Given the description of an element on the screen output the (x, y) to click on. 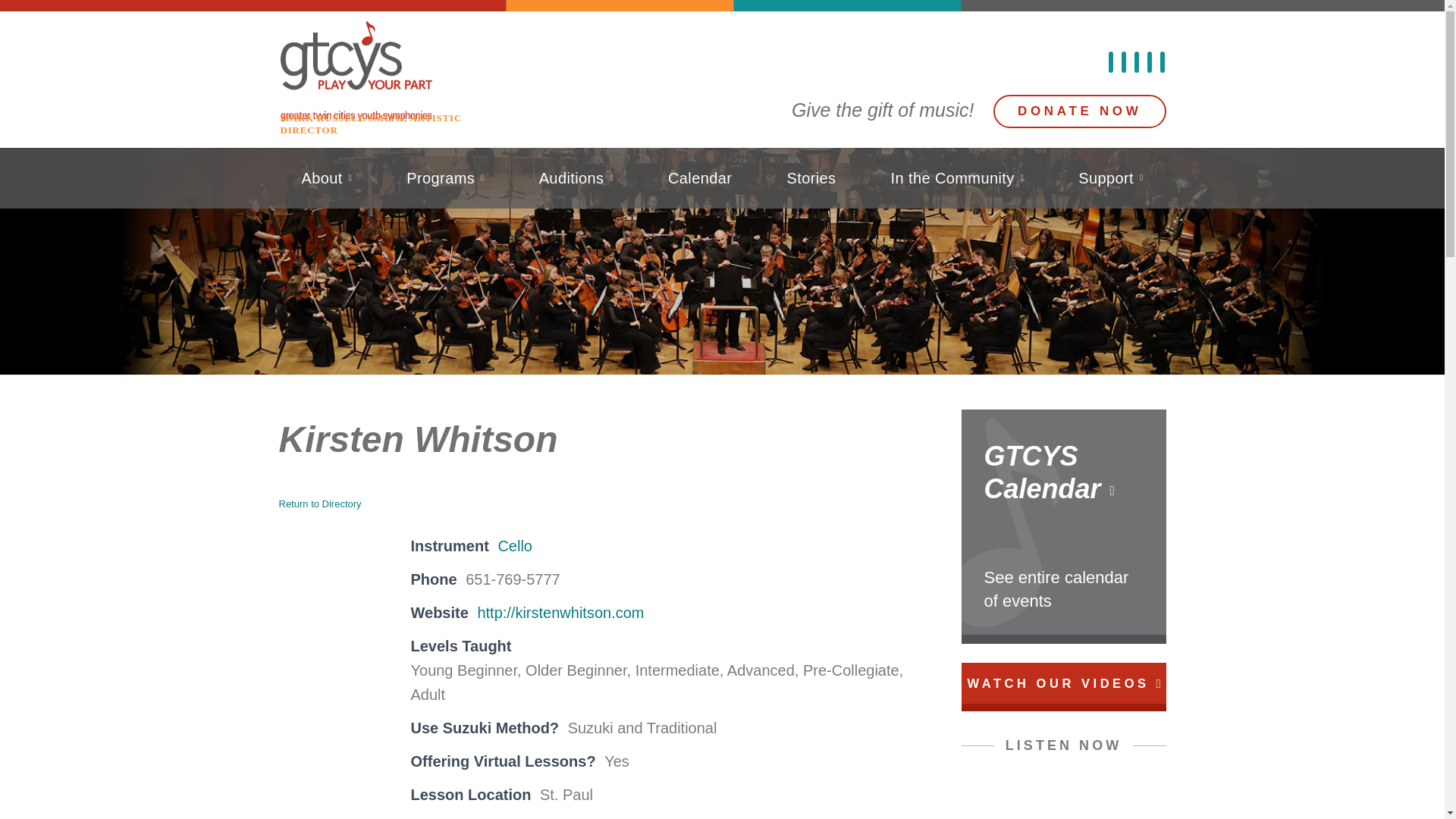
Greater Twin Cities Youth Symphonies (394, 71)
Programs (445, 178)
Stories (810, 178)
About (327, 178)
In the Community (956, 178)
Calendar (699, 178)
Auditions (576, 178)
